Given the description of an element on the screen output the (x, y) to click on. 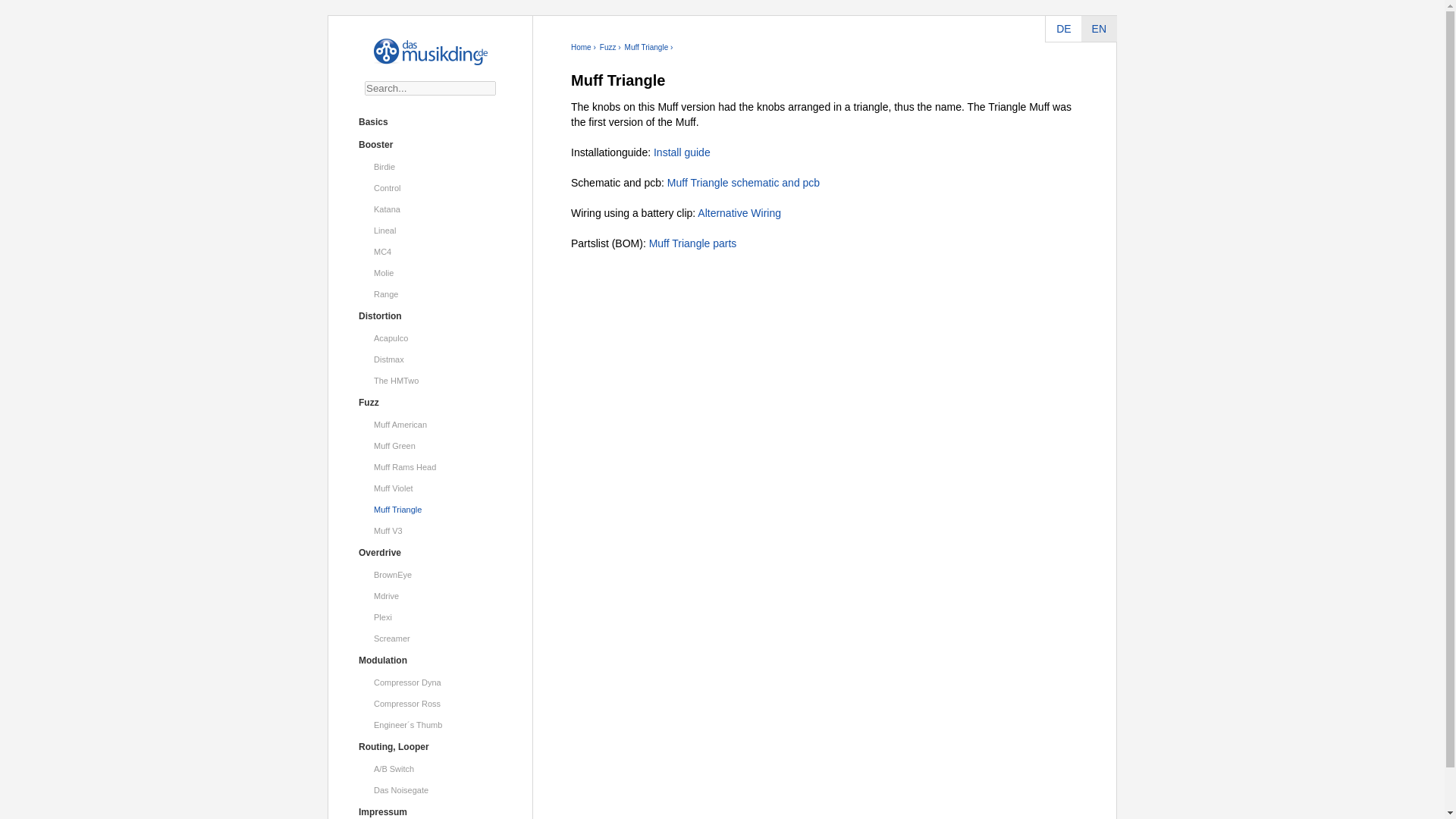
Mdrive (430, 595)
Birdie (430, 166)
Impressum (430, 809)
Distortion (430, 315)
Muff Green (430, 445)
Modulation (430, 660)
Plexi (430, 617)
Basics (430, 121)
Muff Violet (430, 487)
Muff Rams Head (430, 466)
